Given the description of an element on the screen output the (x, y) to click on. 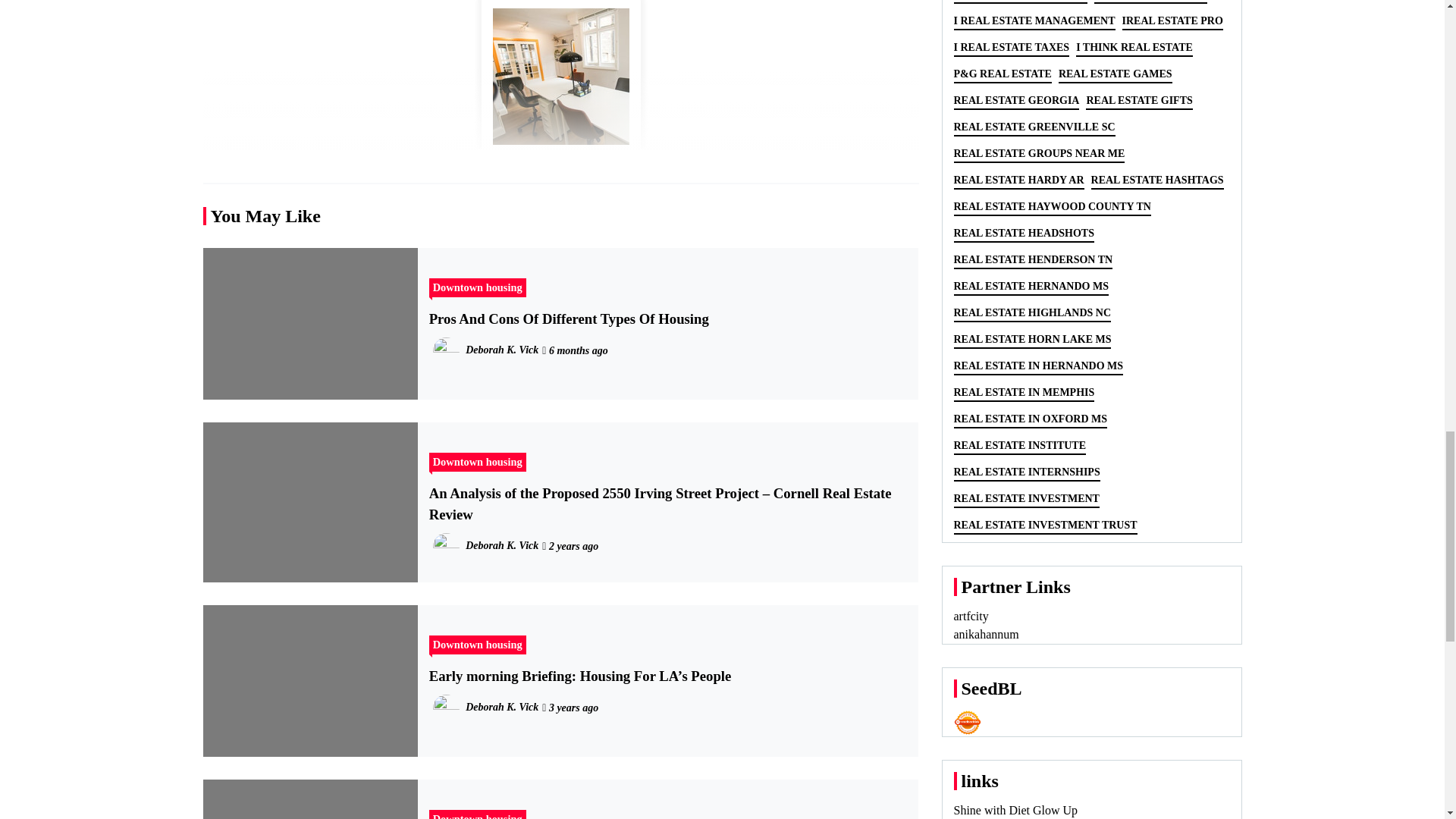
Seedbacklink (967, 722)
